Given the description of an element on the screen output the (x, y) to click on. 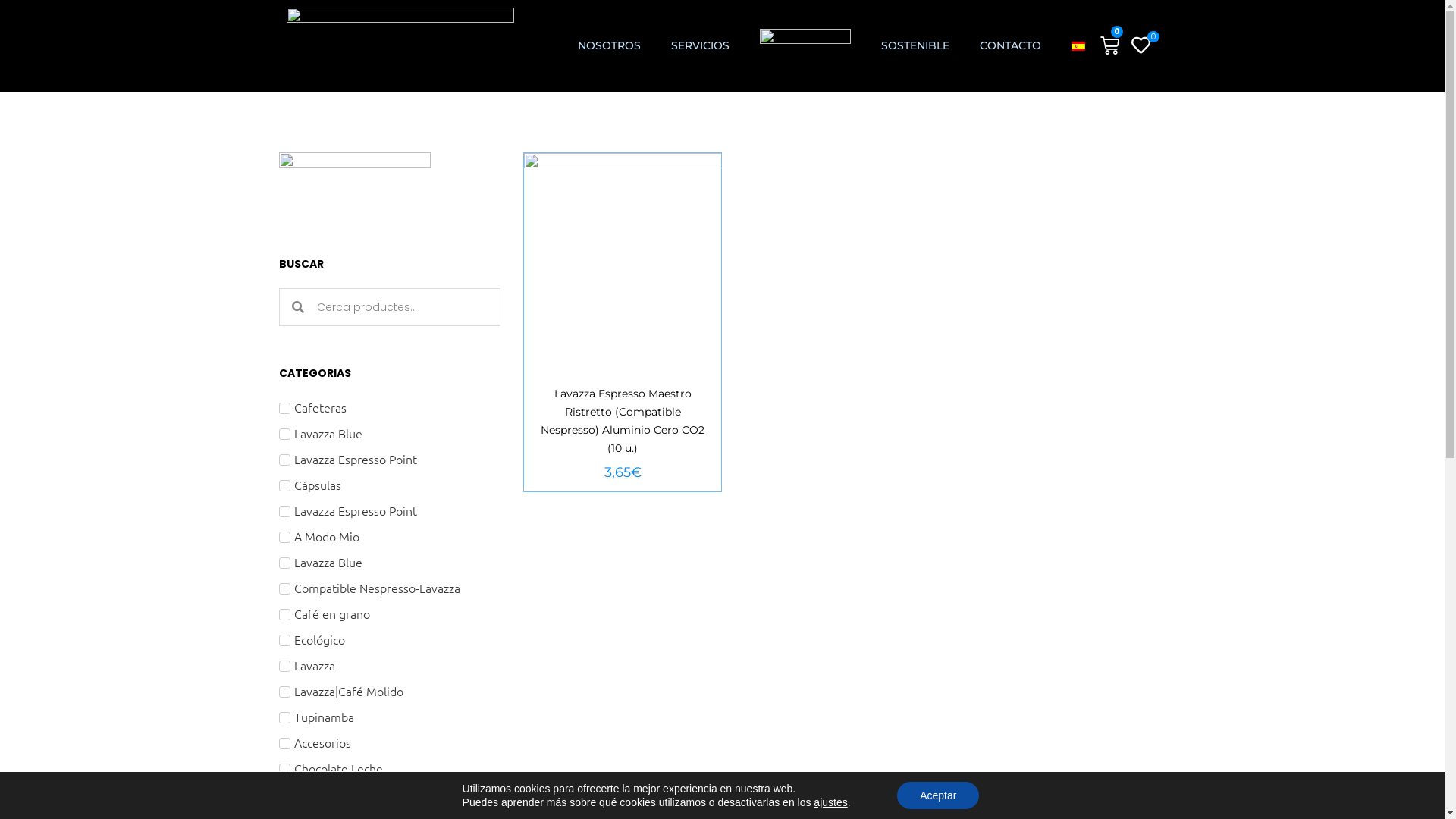
Aceptar Element type: text (938, 795)
0 Element type: text (1143, 45)
SOSTENIBLE Element type: text (915, 45)
NOSOTROS Element type: text (608, 45)
7110 Element type: text (647, 213)
ajustes Element type: text (830, 802)
Buscar Element type: hover (401, 306)
CONTACTO Element type: text (1010, 45)
SERVICIOS Element type: text (699, 45)
